Given the description of an element on the screen output the (x, y) to click on. 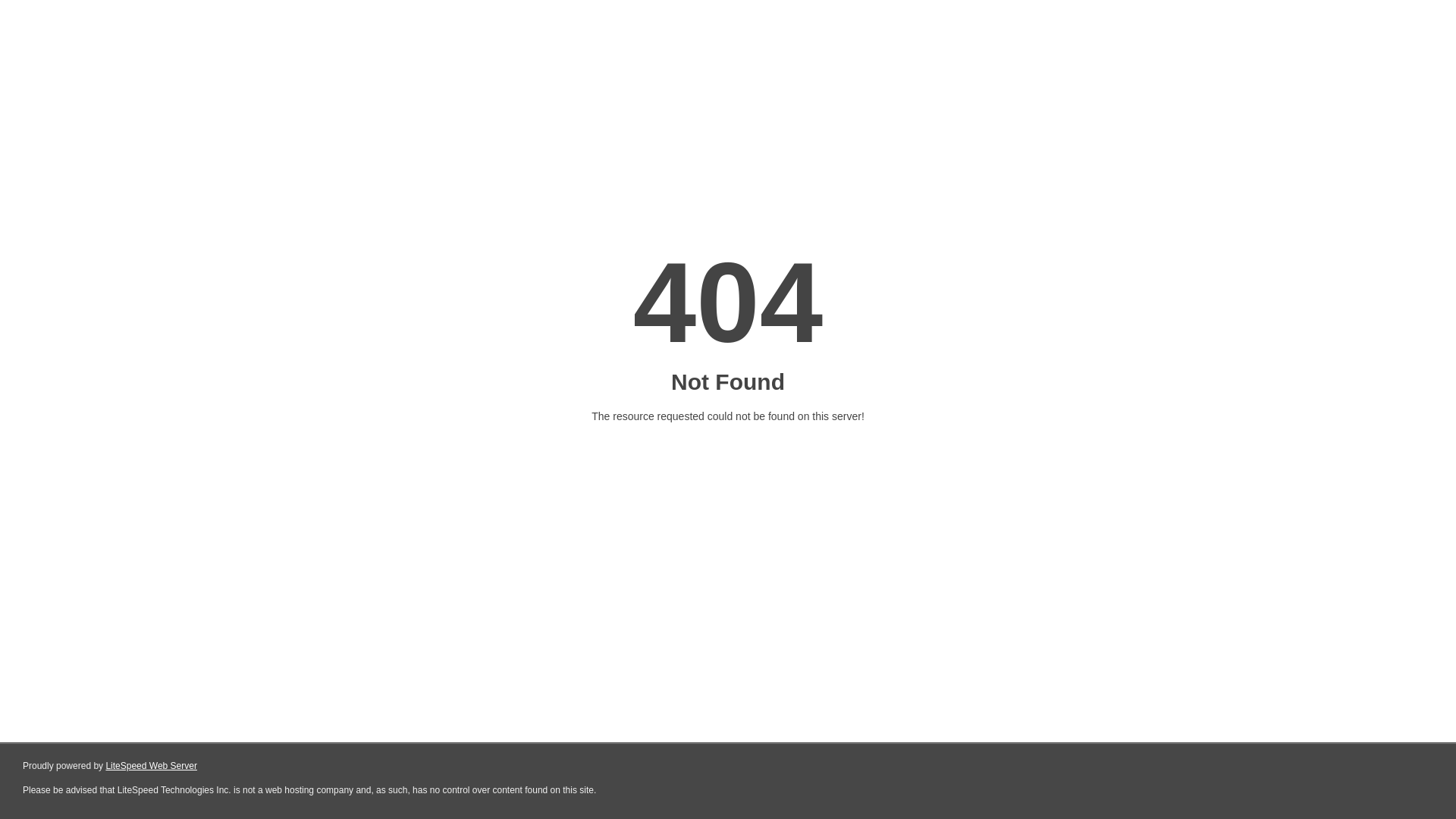
LiteSpeed Web Server Element type: text (151, 765)
